Given the description of an element on the screen output the (x, y) to click on. 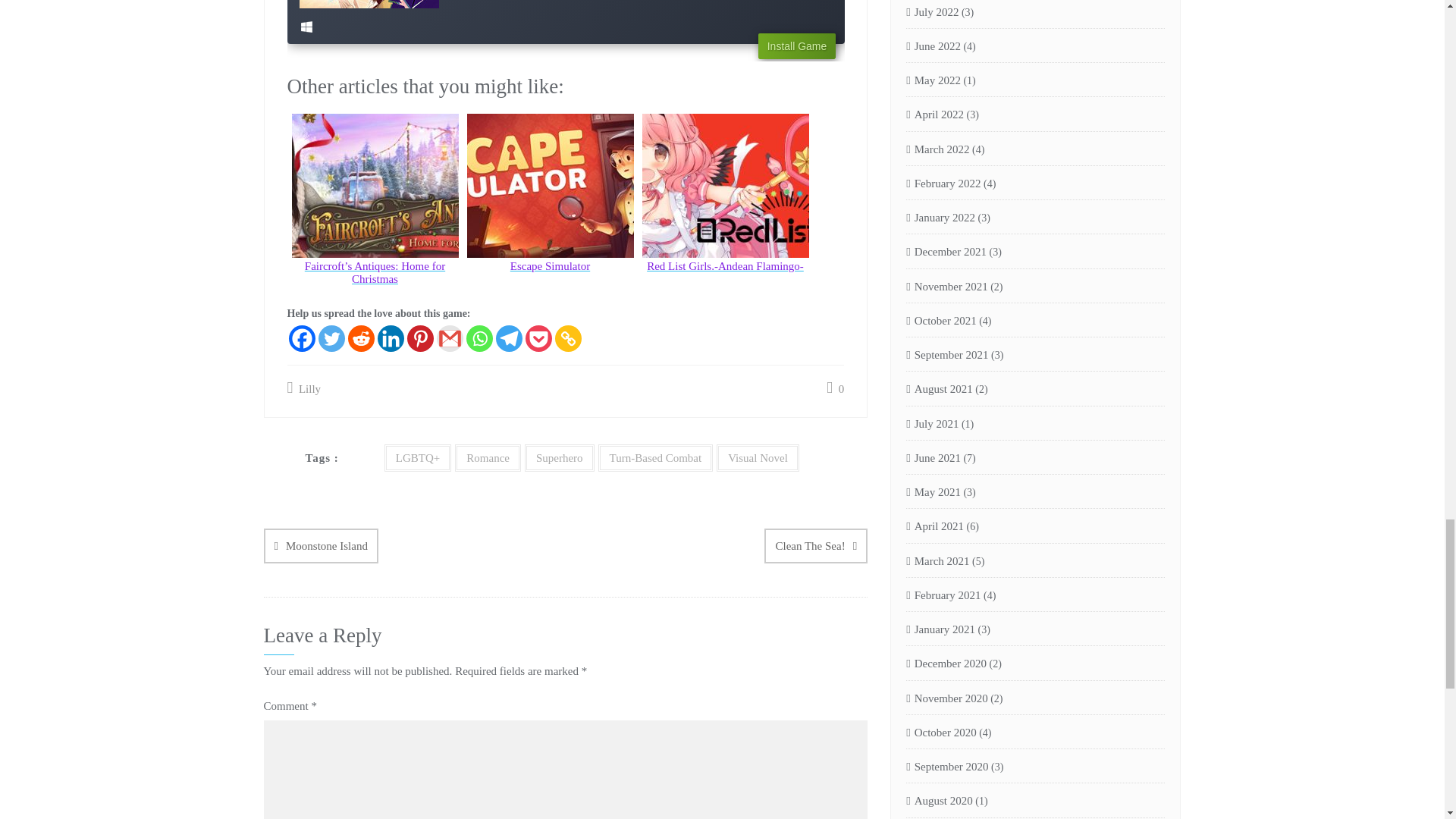
Copy Link (567, 338)
Pocket (537, 338)
Lilly (303, 388)
Escape Simulator (551, 204)
Pinterest (419, 338)
Red List Girls.-Andean Flamingo- (724, 204)
Google Gmail (449, 338)
Clean The Sea! (815, 545)
Linkedin (390, 338)
Reddit (360, 338)
